Given the description of an element on the screen output the (x, y) to click on. 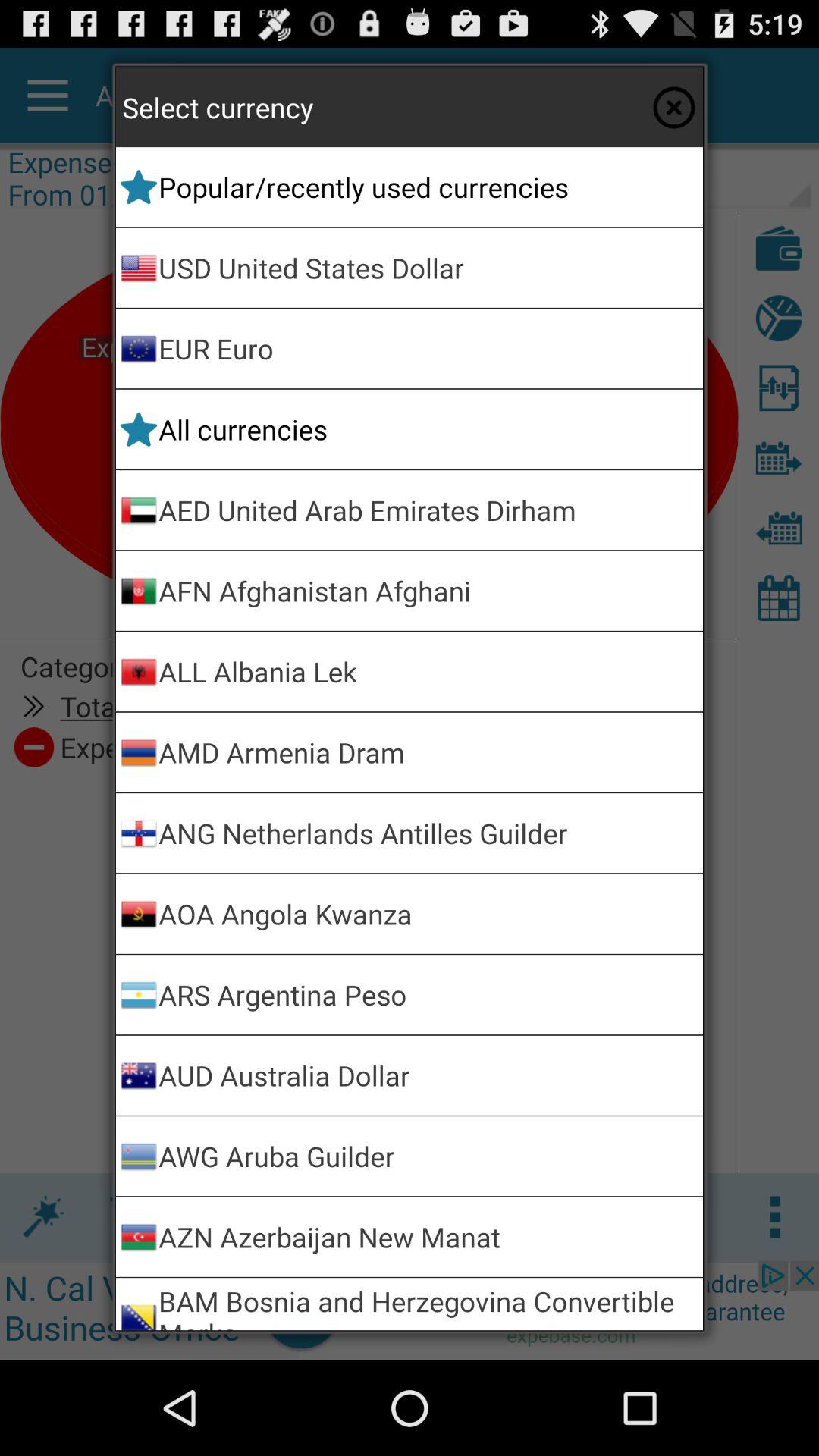
turn on item above aud australia dollar (427, 994)
